Given the description of an element on the screen output the (x, y) to click on. 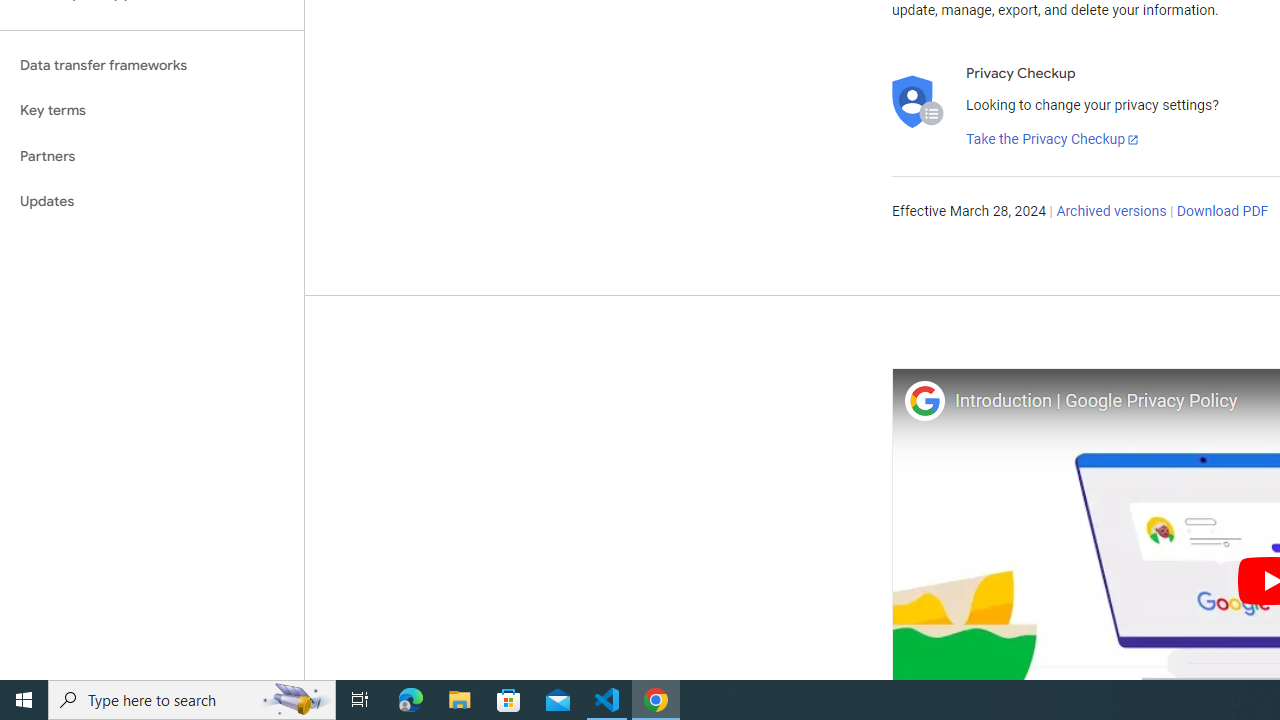
Download PDF (1222, 212)
Key terms (152, 110)
Partners (152, 156)
Data transfer frameworks (152, 65)
Take the Privacy Checkup (1053, 140)
Archived versions (1111, 212)
Photo image of Google (924, 400)
Updates (152, 201)
